Given the description of an element on the screen output the (x, y) to click on. 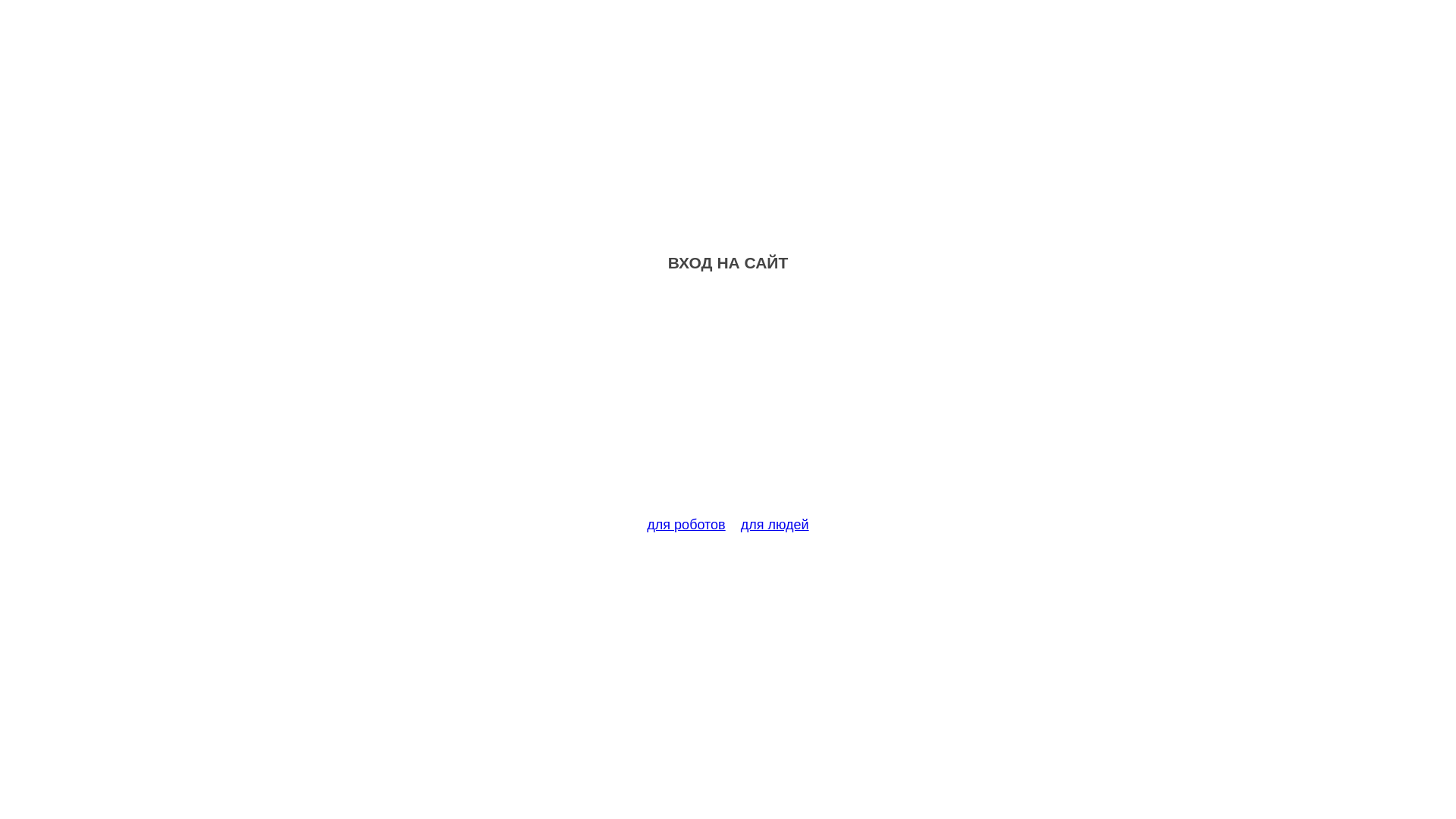
Advertisement Element type: hover (727, 403)
